Given the description of an element on the screen output the (x, y) to click on. 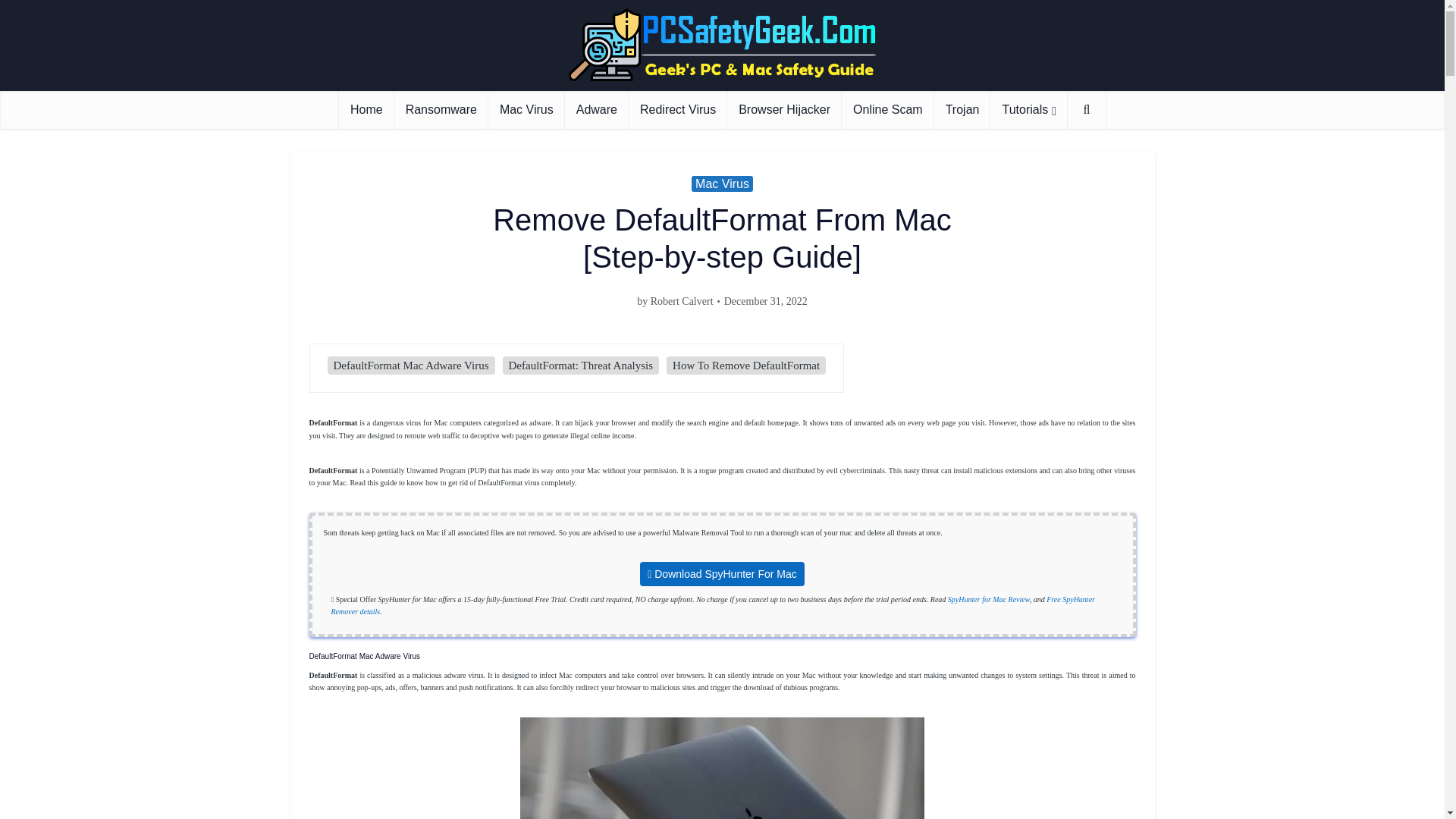
Tutorials (1028, 109)
DefaultFormat Mac Virus Removal (721, 768)
Ransomware (440, 109)
Robert Calvert (681, 301)
Browser Hijacker (783, 109)
Home (366, 109)
Online Scam (887, 109)
Adware (596, 109)
Trojan (962, 109)
DefaultFormat: Threat Analysis (580, 365)
